Given the description of an element on the screen output the (x, y) to click on. 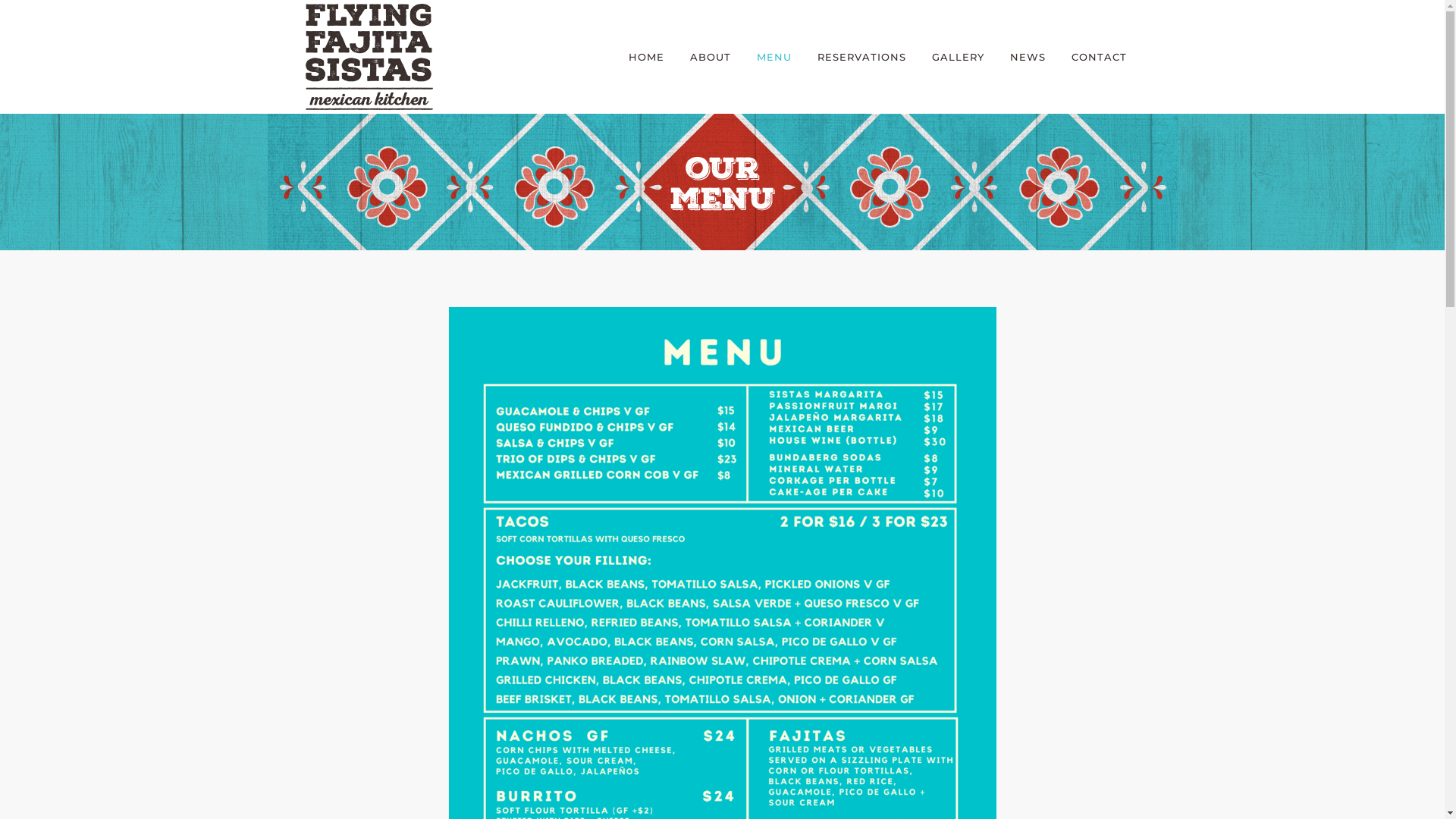
MENU Element type: text (773, 56)
CONTACT Element type: text (1098, 56)
NEWS Element type: text (1026, 56)
GALLERY Element type: text (958, 56)
Title_Our-Menu Element type: hover (721, 181)
RESERVATIONS Element type: text (860, 56)
ABOUT Element type: text (709, 56)
HOME Element type: text (646, 56)
